Given the description of an element on the screen output the (x, y) to click on. 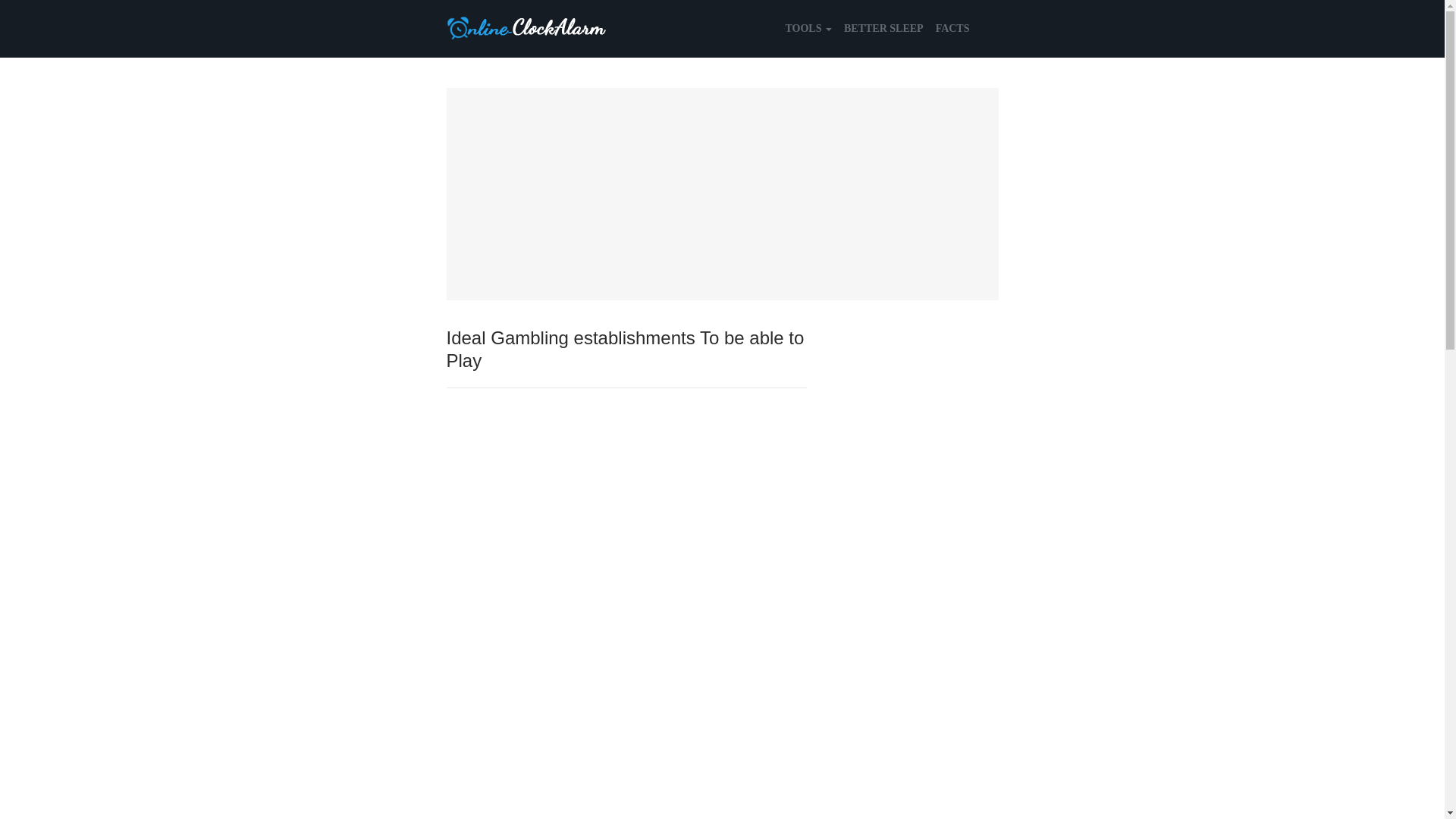
Better Sleep (884, 28)
Advertisement (721, 193)
Online-ClockAlarm (526, 27)
BETTER SLEEP (884, 28)
Tools (808, 28)
Advertisement (625, 729)
TOOLS (808, 28)
